Given the description of an element on the screen output the (x, y) to click on. 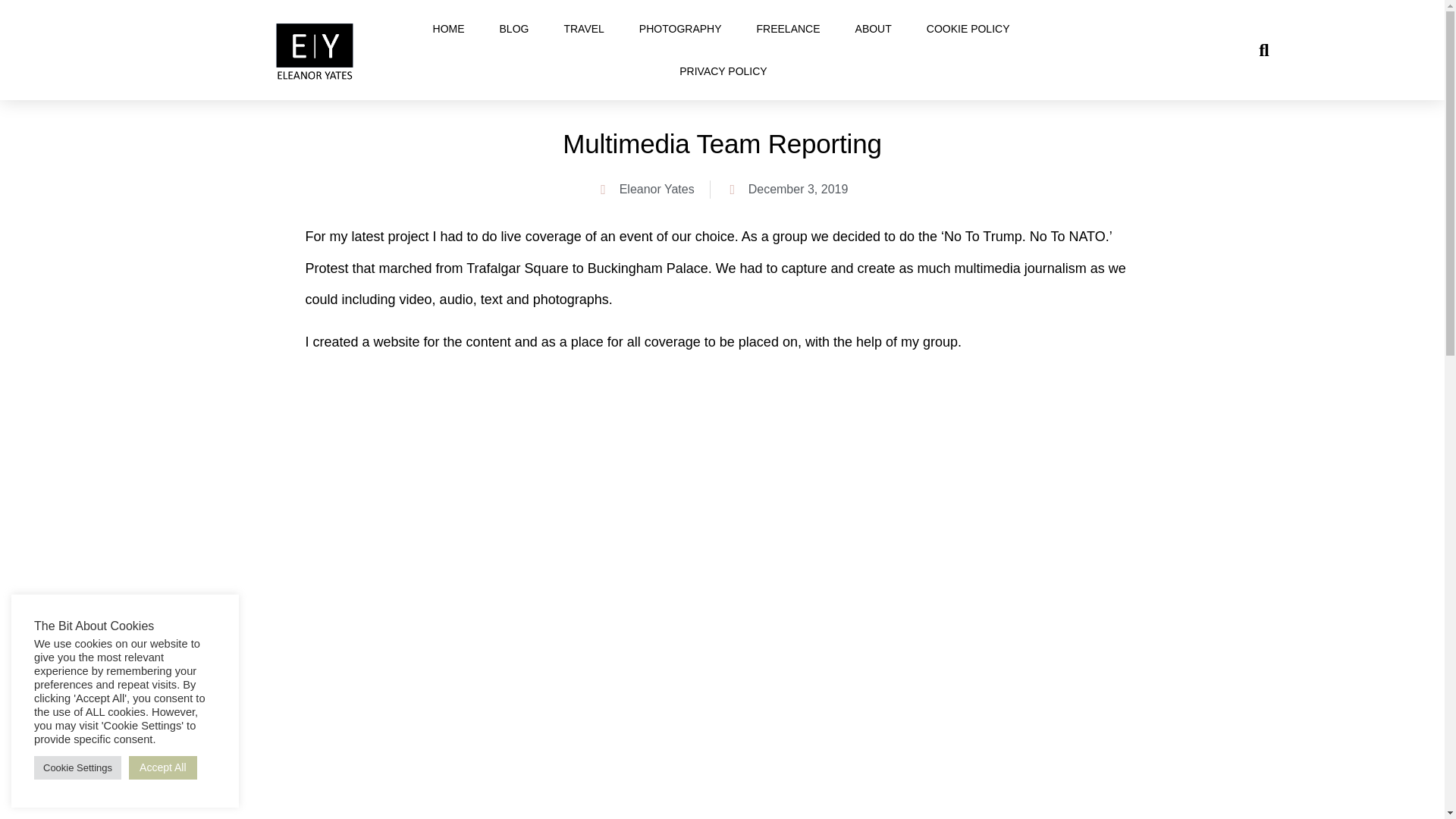
PRIVACY POLICY (722, 70)
ABOUT (873, 28)
FREELANCE (788, 28)
December 3, 2019 (786, 189)
COOKIE POLICY (968, 28)
BLOG (514, 28)
HOME (448, 28)
TRAVEL (583, 28)
PHOTOGRAPHY (680, 28)
